Given the description of an element on the screen output the (x, y) to click on. 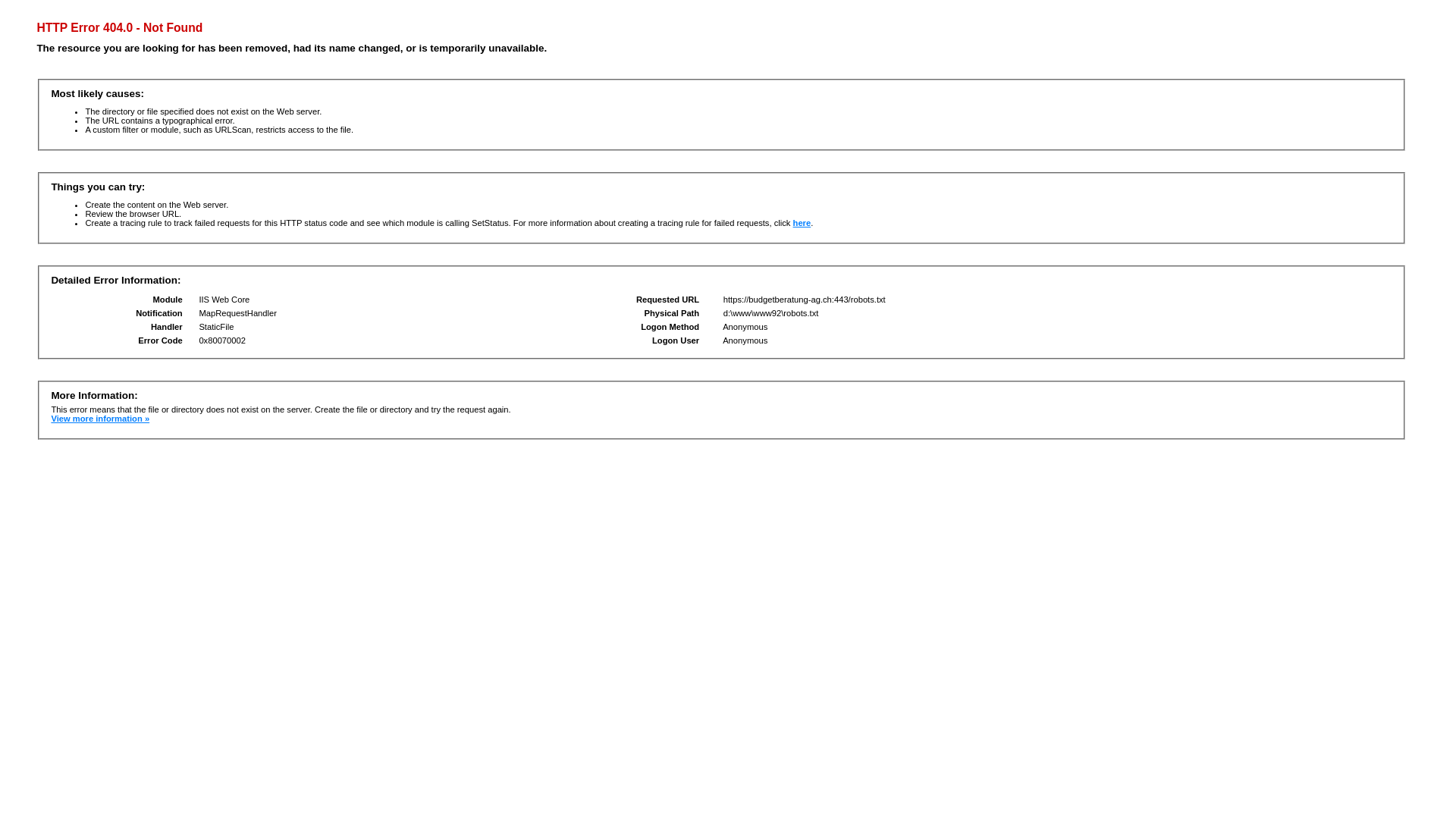
here Element type: text (802, 222)
